Given the description of an element on the screen output the (x, y) to click on. 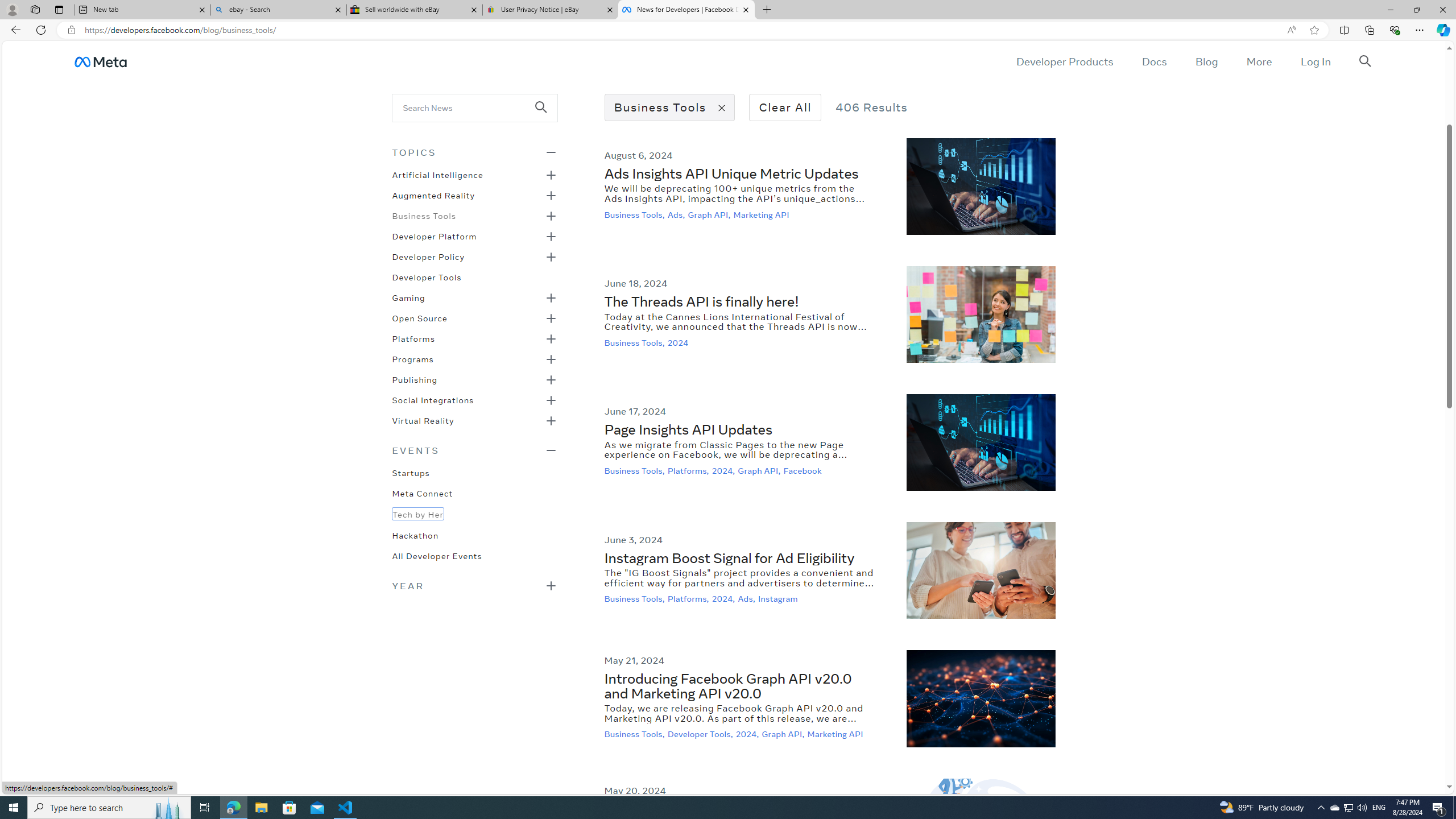
Hackathon (415, 534)
Graph API, (784, 733)
Developer Products (1064, 61)
Instagram (778, 598)
Artificial Intelligence (437, 173)
Class: _58al (467, 107)
News for Developers | Facebook Developers (685, 9)
Developer Platform (434, 235)
